Given the description of an element on the screen output the (x, y) to click on. 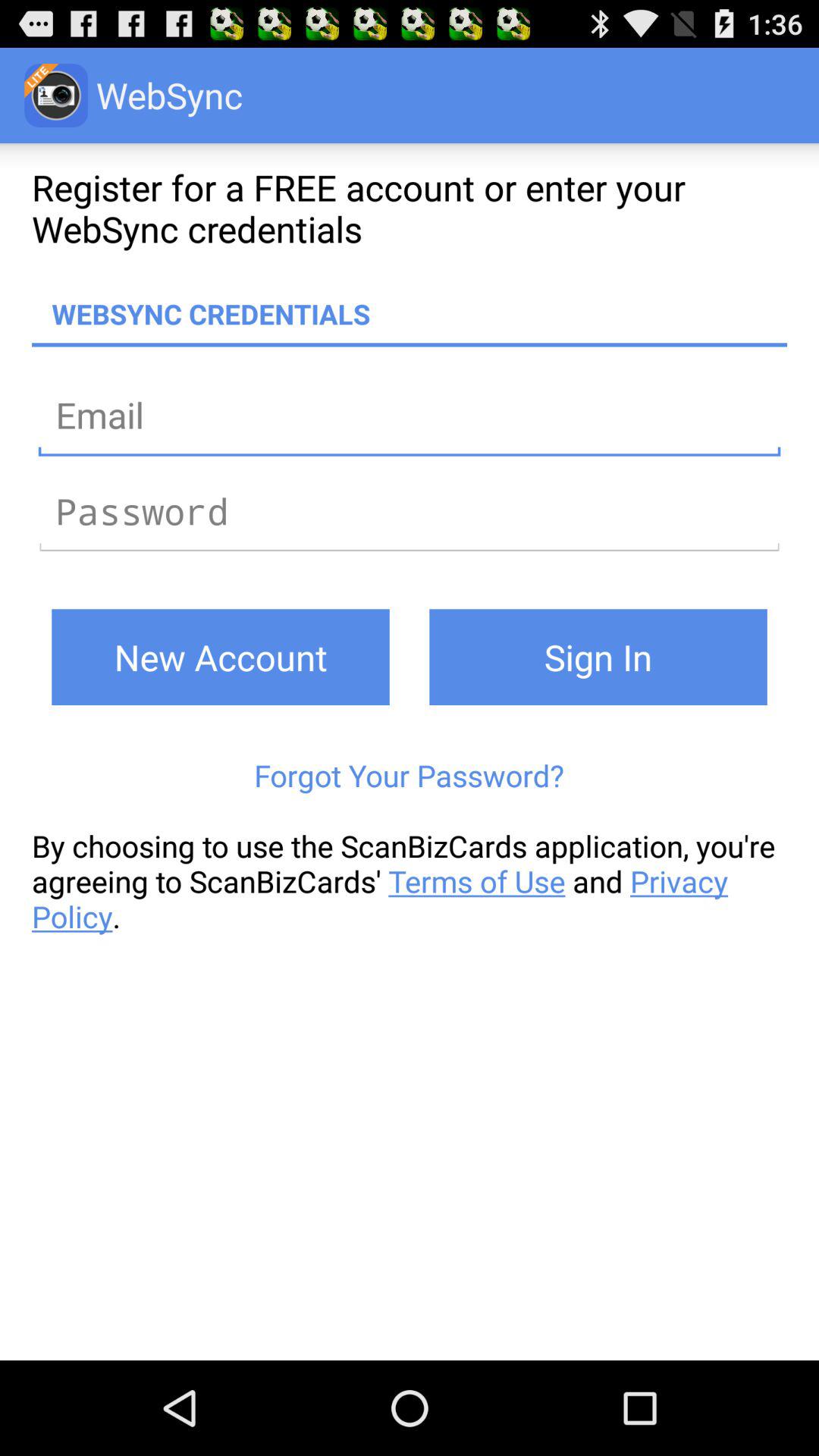
choose new account icon (220, 657)
